Given the description of an element on the screen output the (x, y) to click on. 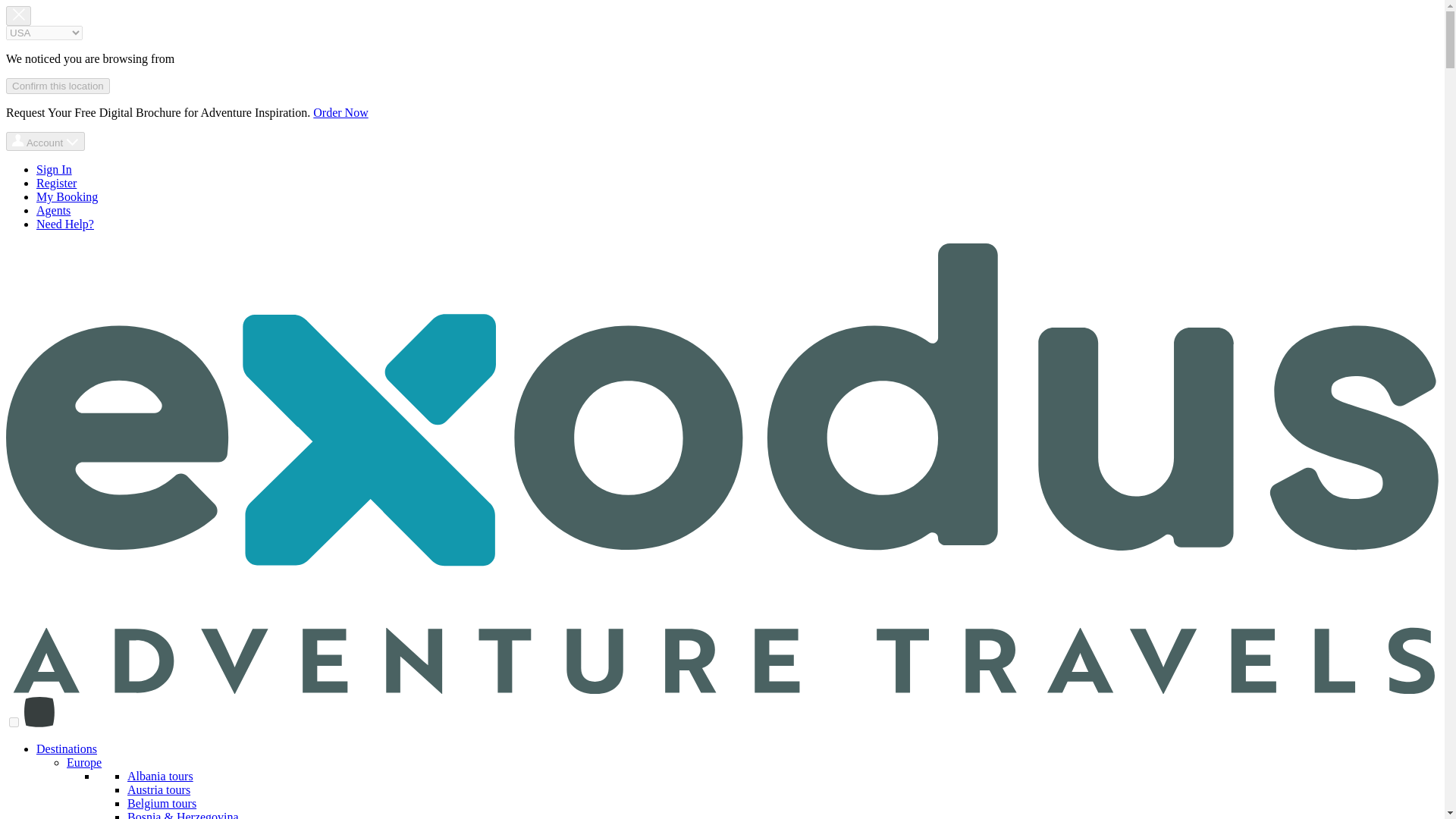
Sign In (53, 169)
Agents (52, 210)
Sign In (53, 169)
My Booking (66, 196)
Albania tours (160, 775)
Order Now (340, 112)
Register (56, 182)
My Booking (66, 196)
Destinations (66, 748)
Europe (83, 762)
Agents (52, 210)
Austria tours (159, 789)
Need Help? (65, 223)
Confirm this location (57, 85)
on (13, 722)
